Given the description of an element on the screen output the (x, y) to click on. 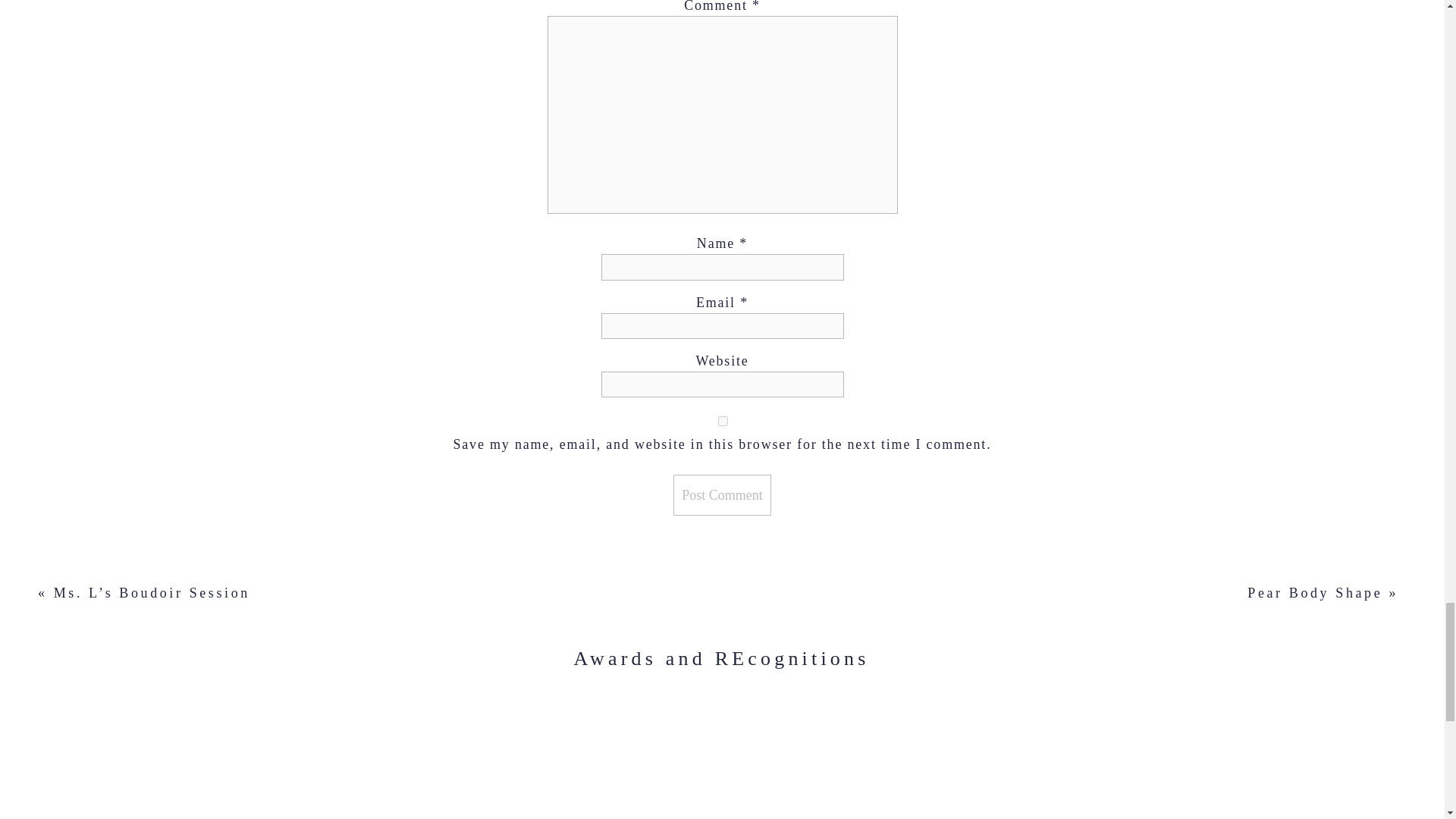
Post Comment (721, 495)
Post Comment (721, 495)
Pear Body Shape (1314, 592)
yes (721, 420)
